Given the description of an element on the screen output the (x, y) to click on. 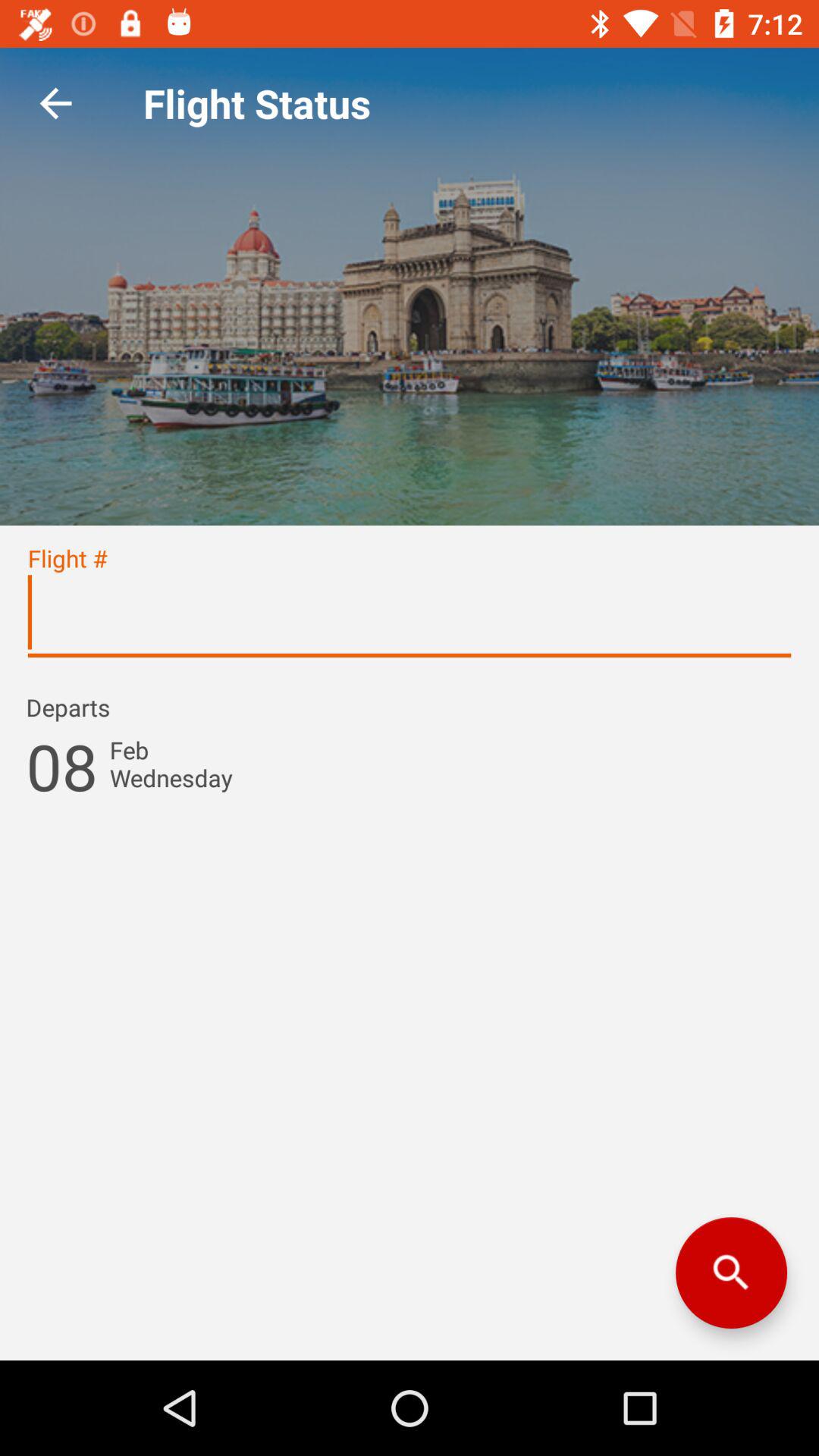
type flight name (409, 619)
